Given the description of an element on the screen output the (x, y) to click on. 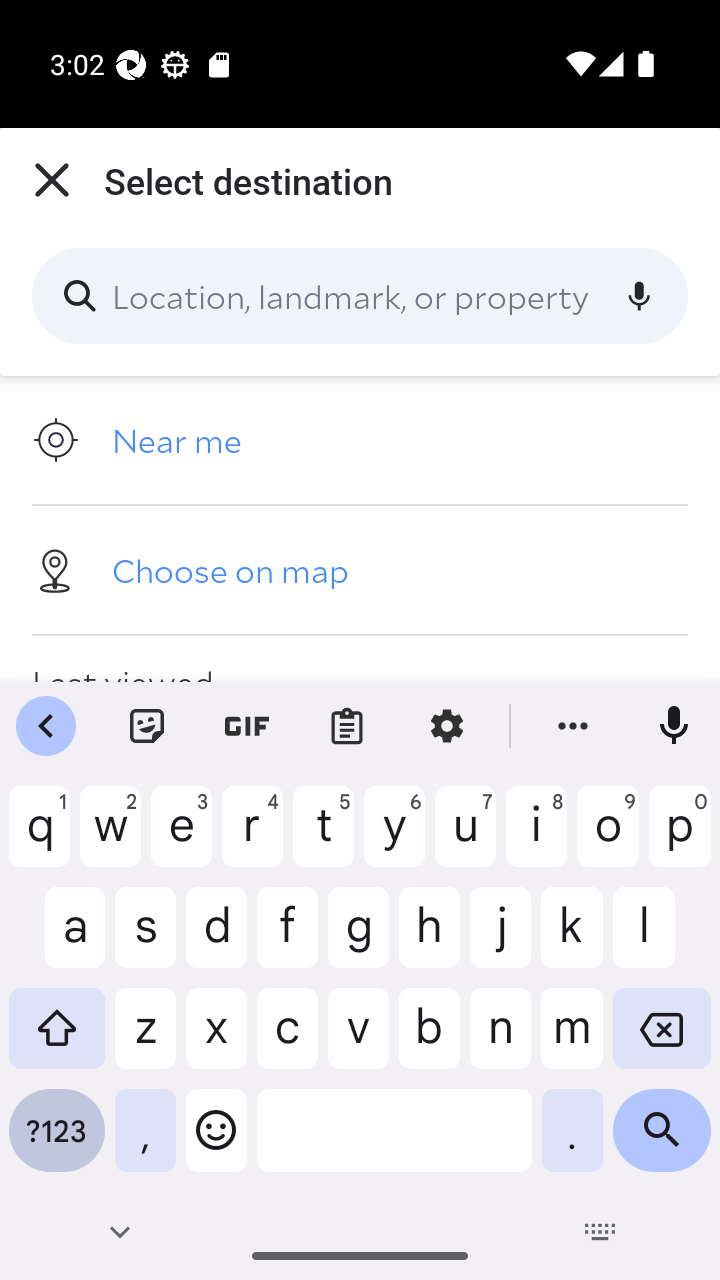
Location, landmark, or property (359, 296)
Near me (360, 440)
Choose on map (360, 569)
